Given the description of an element on the screen output the (x, y) to click on. 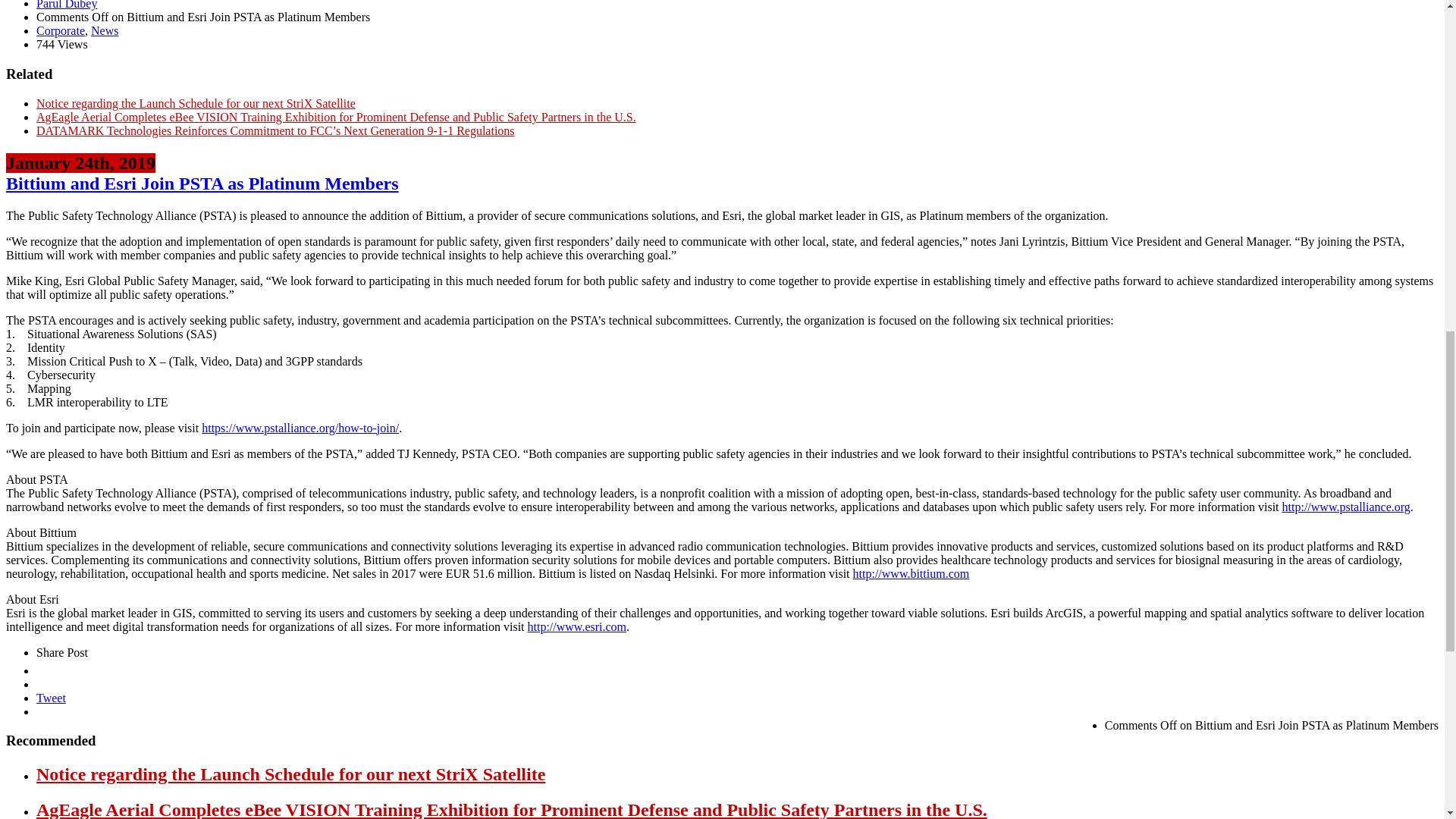
Posts by Parul Dubey (66, 4)
